Given the description of an element on the screen output the (x, y) to click on. 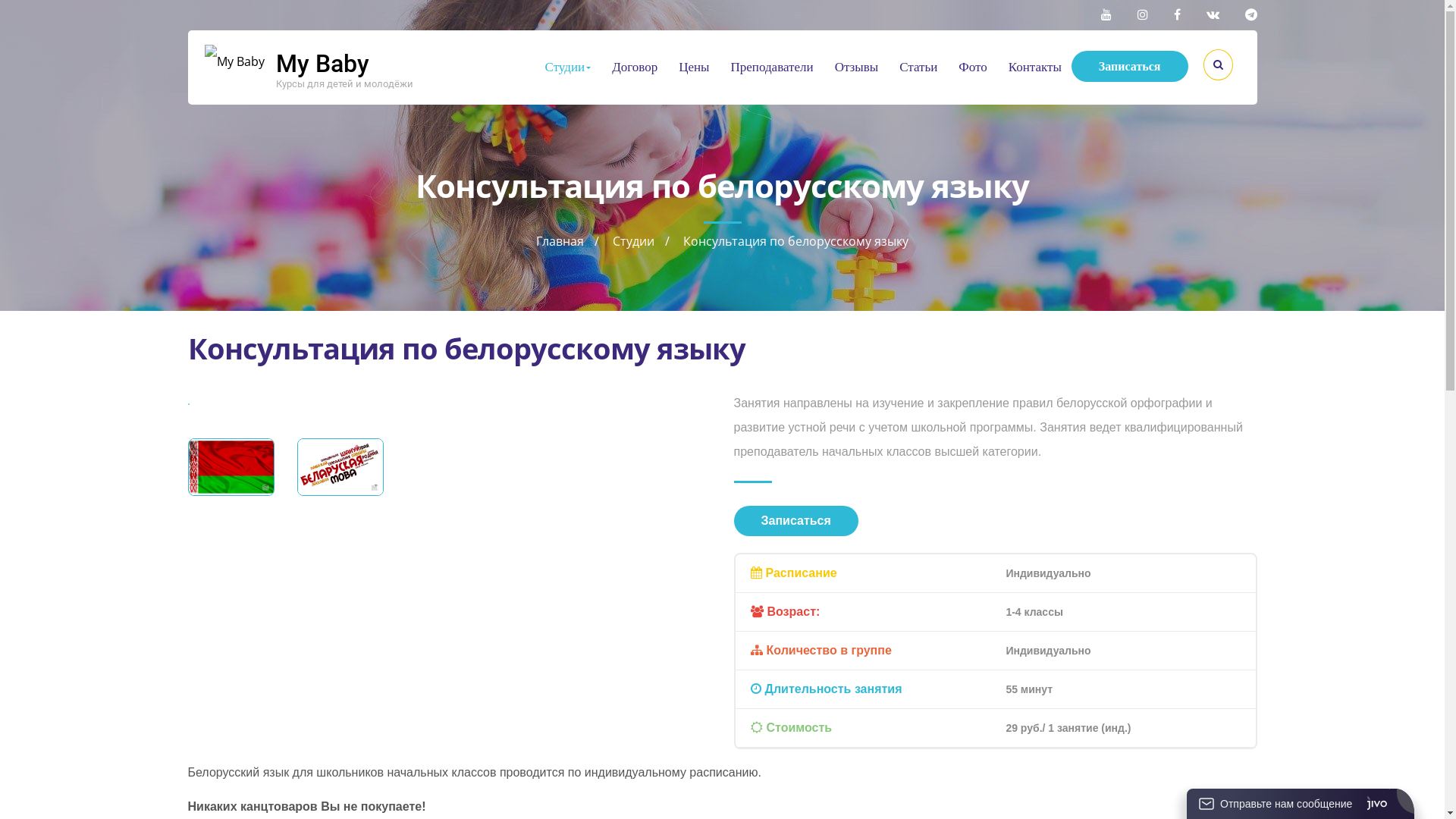
My Baby Element type: text (322, 63)
